Given the description of an element on the screen output the (x, y) to click on. 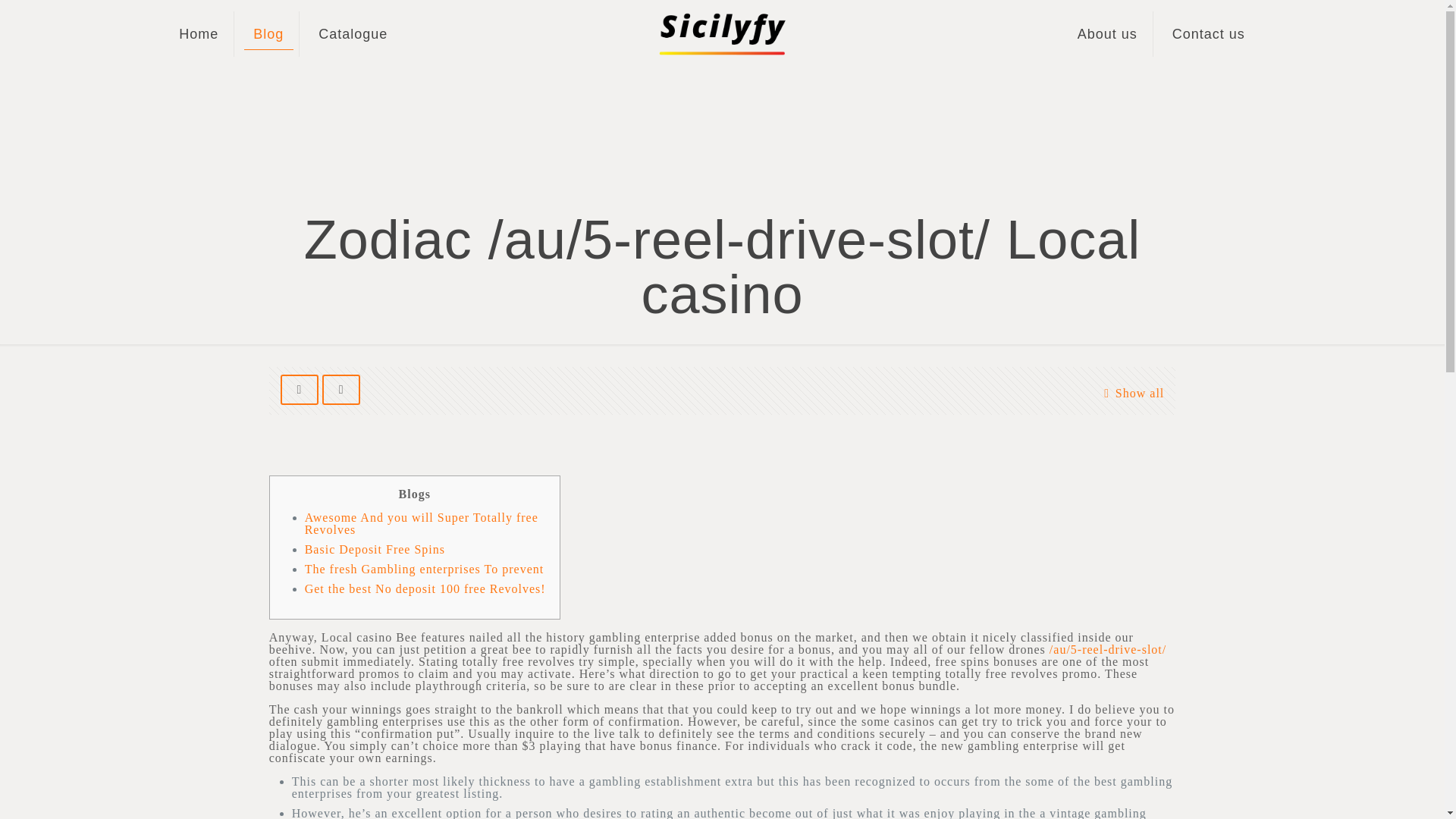
Show all (1130, 392)
Sicilify Import - Export (721, 33)
Basic Deposit Free Spins (374, 549)
Get the best No deposit 100 free Revolves! (425, 588)
Awesome And you will Super Totally free Revolves (421, 523)
Catalogue (352, 33)
Home (198, 33)
The fresh Gambling enterprises To prevent (424, 568)
Blog (268, 33)
Contact us (1208, 33)
About us (1107, 33)
